Given the description of an element on the screen output the (x, y) to click on. 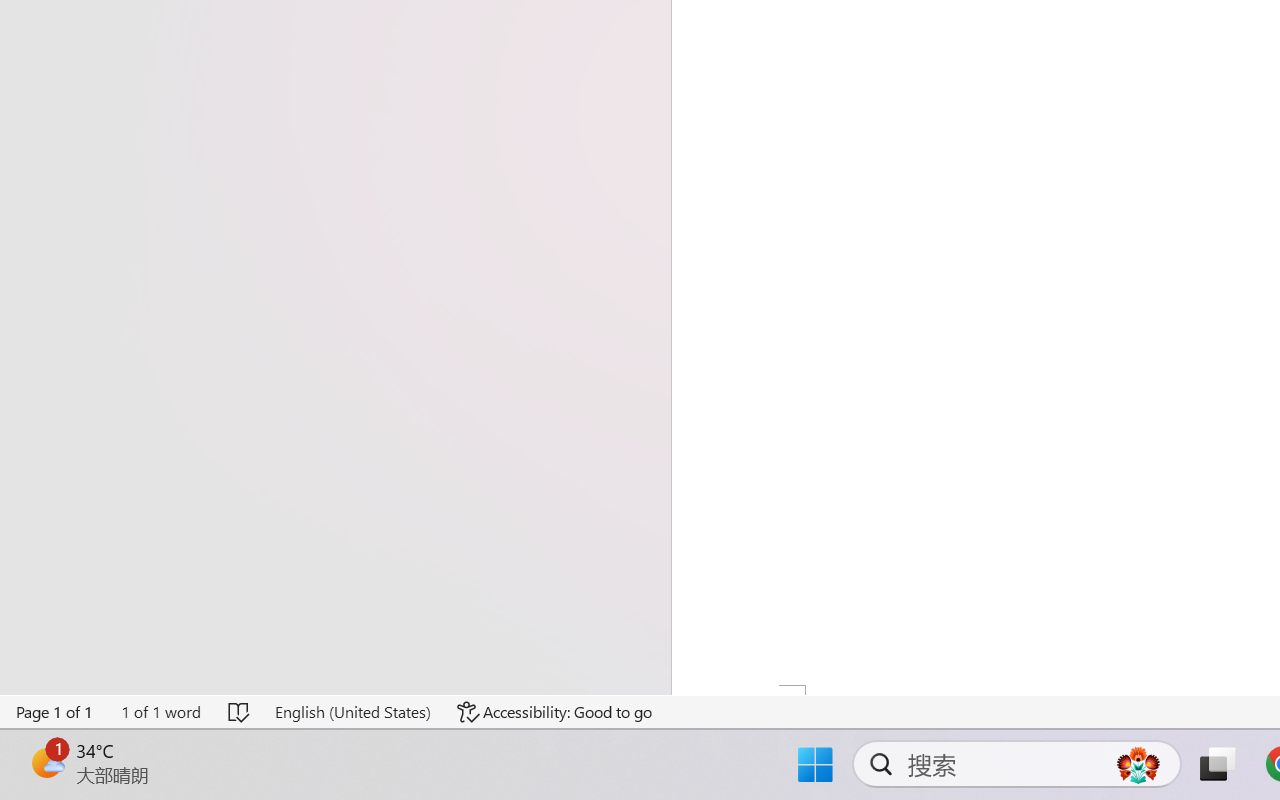
Page Number Page 1 of 1 (55, 712)
